Given the description of an element on the screen output the (x, y) to click on. 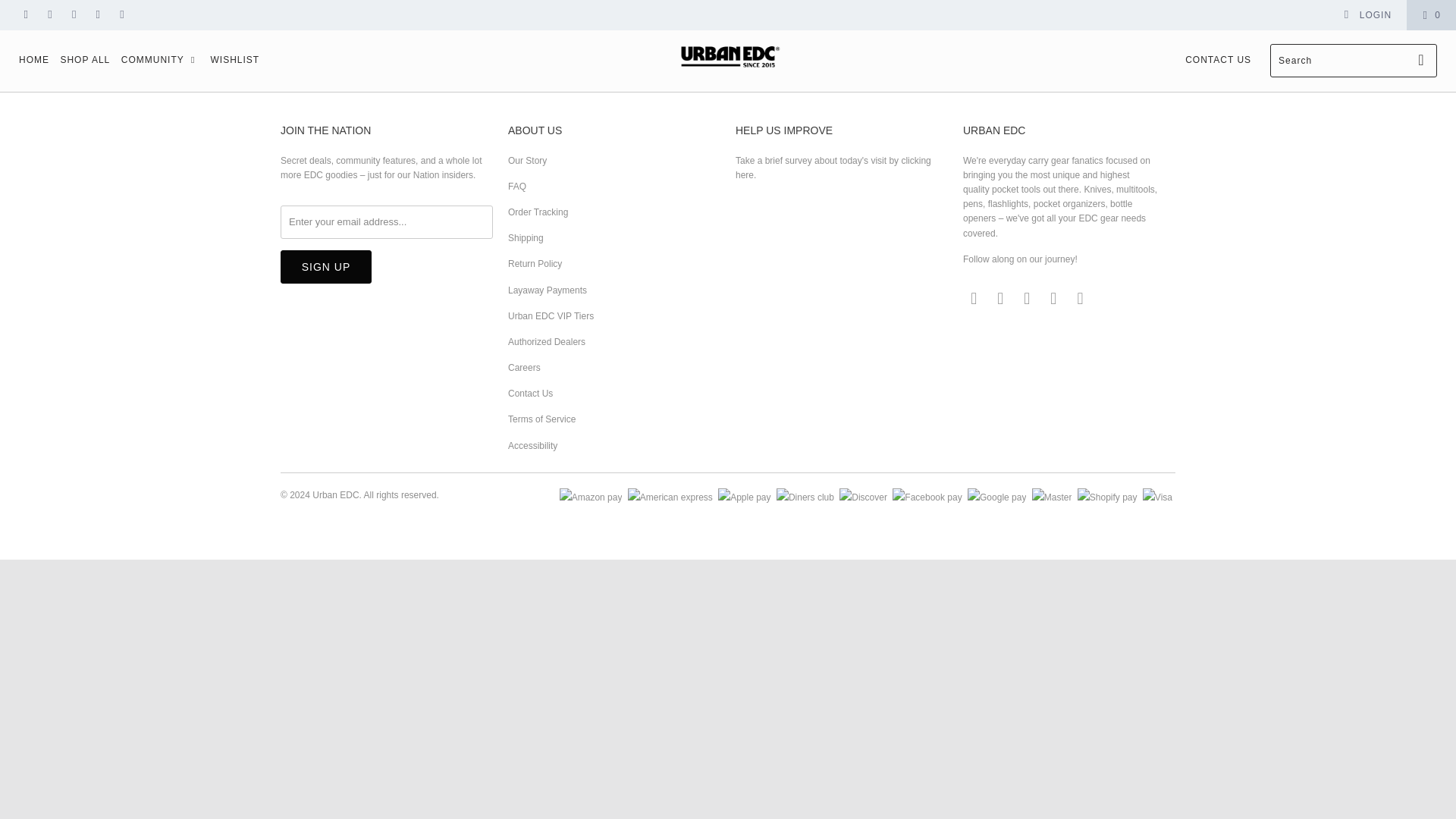
Urban EDC on Facebook (49, 14)
COMMUNITY (159, 60)
Urban EDC on YouTube (73, 14)
Urban EDC on Twitter (25, 14)
LOGIN (1366, 15)
WISHLIST (234, 60)
CONTACT US (1217, 60)
Urban EDC on Pinterest (96, 14)
My Account  (1366, 15)
Urban EDC (727, 55)
Sign Up (326, 266)
Urban EDC on Instagram (121, 14)
SHOP ALL (84, 60)
